Given the description of an element on the screen output the (x, y) to click on. 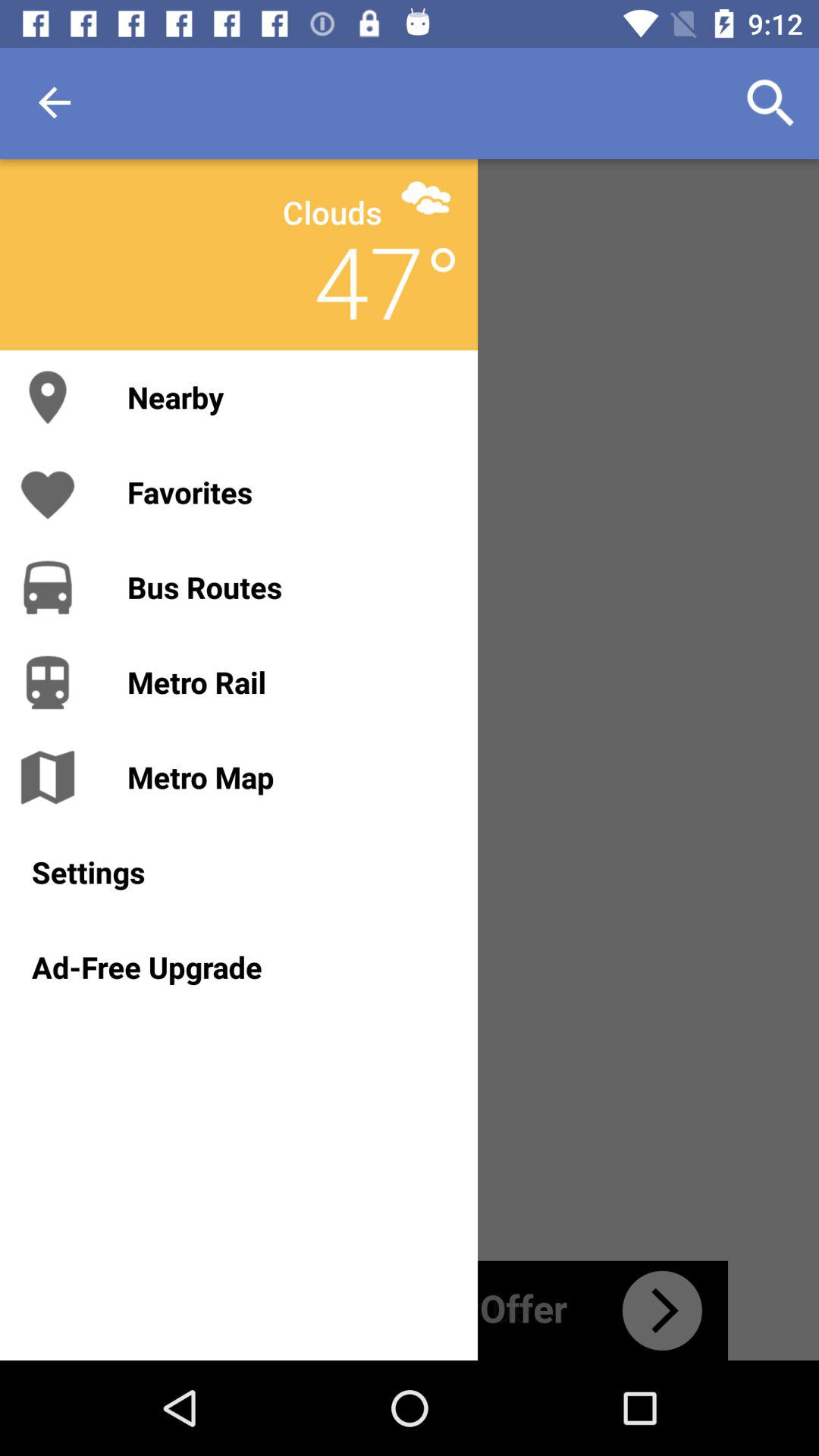
tap icon below the settings (238, 966)
